Given the description of an element on the screen output the (x, y) to click on. 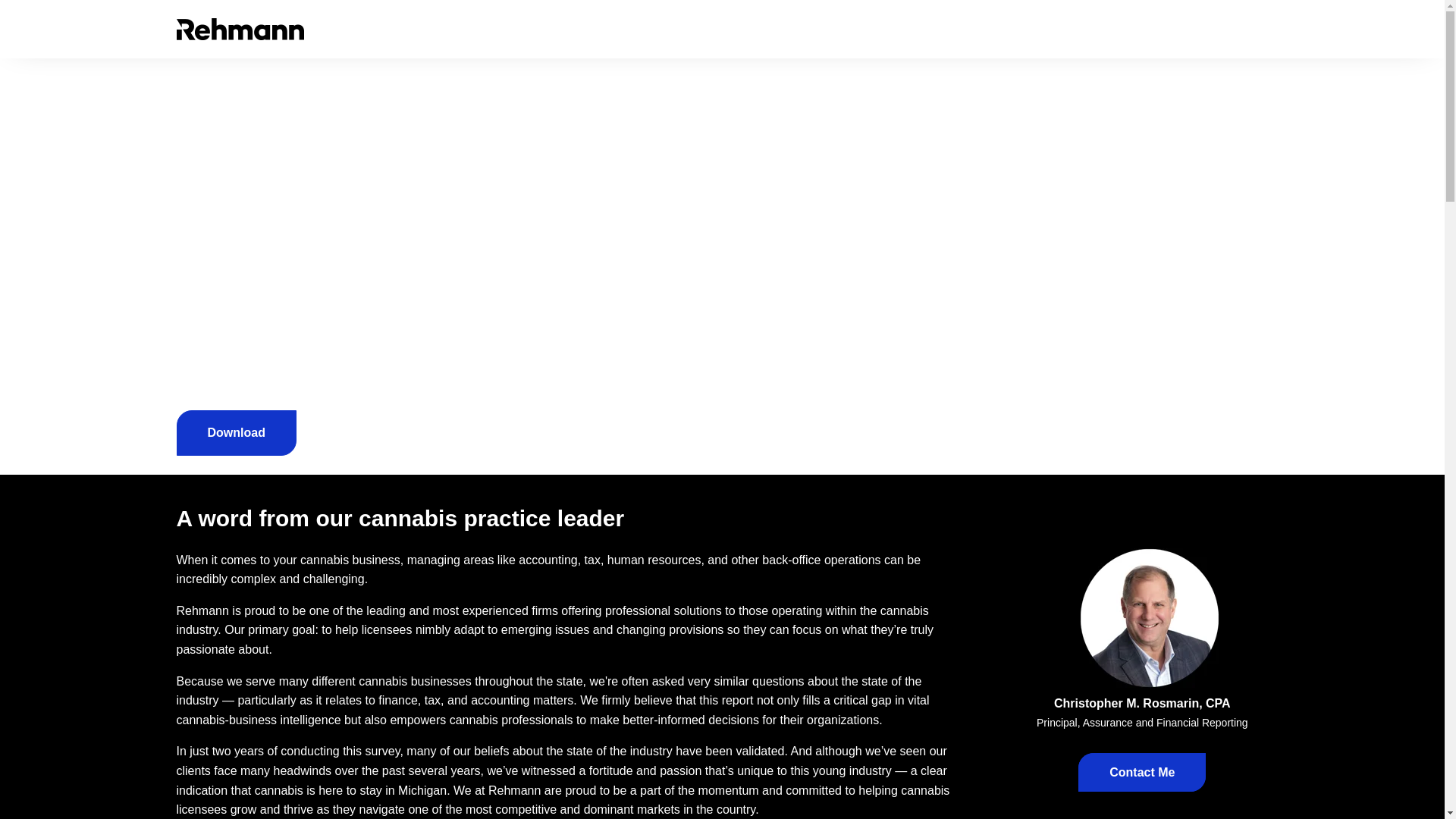
Download (235, 432)
Contact Me (1141, 771)
Rosmarin Headshot for CFO Outlook (1149, 617)
